Given the description of an element on the screen output the (x, y) to click on. 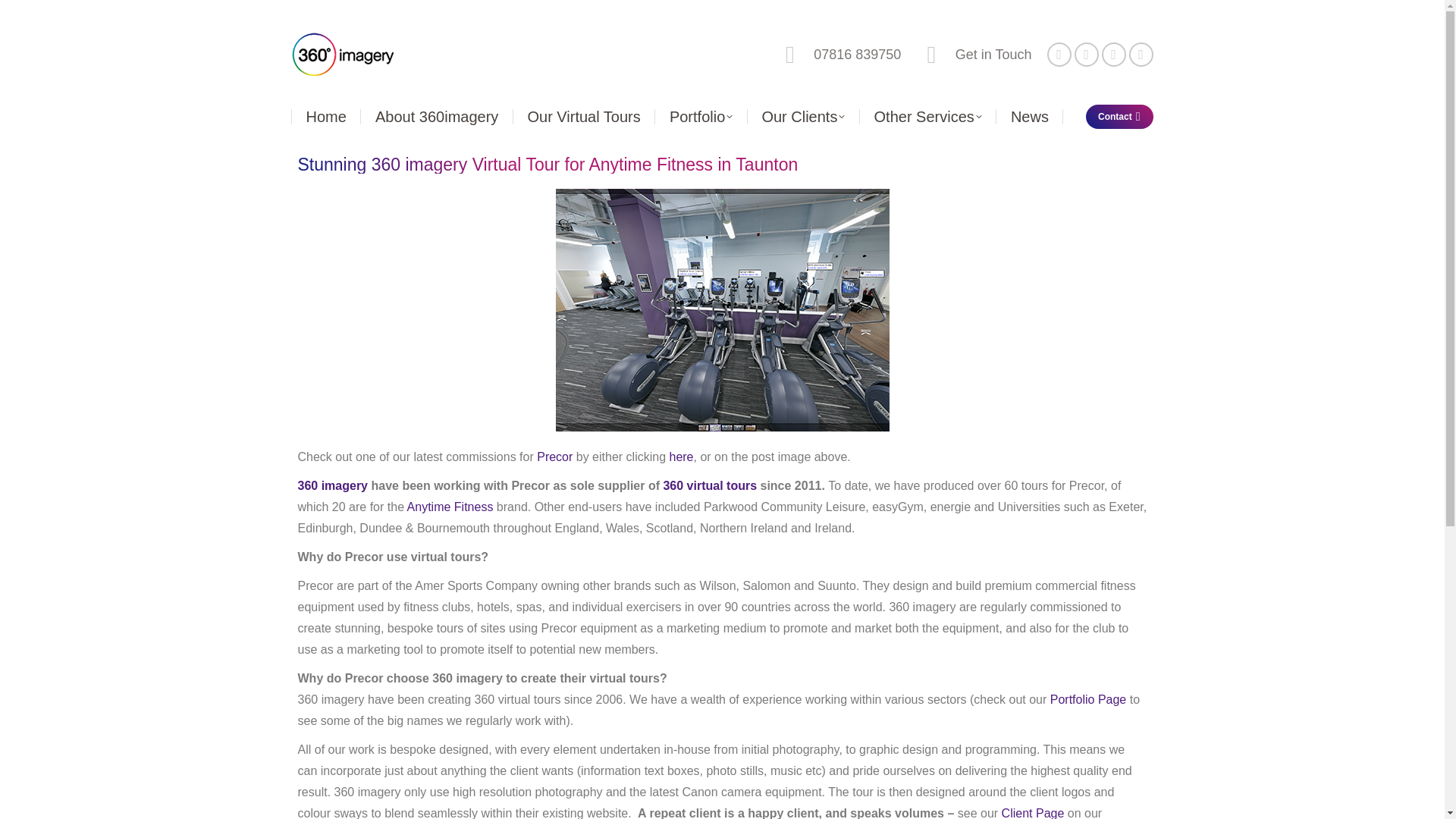
Instagram page opens in new window (1141, 54)
Portfolio (700, 116)
Our Virtual Tours (582, 116)
About 360imagery (436, 116)
Linkedin page opens in new window (1086, 54)
Facebook page opens in new window (1058, 54)
Linkedin page opens in new window (1086, 54)
Instagram page opens in new window (1141, 54)
X page opens in new window (1113, 54)
Our Clients (802, 116)
Facebook page opens in new window (1058, 54)
Other Services (927, 116)
Get in Touch (972, 54)
X page opens in new window (1113, 54)
Home (325, 116)
